Given the description of an element on the screen output the (x, y) to click on. 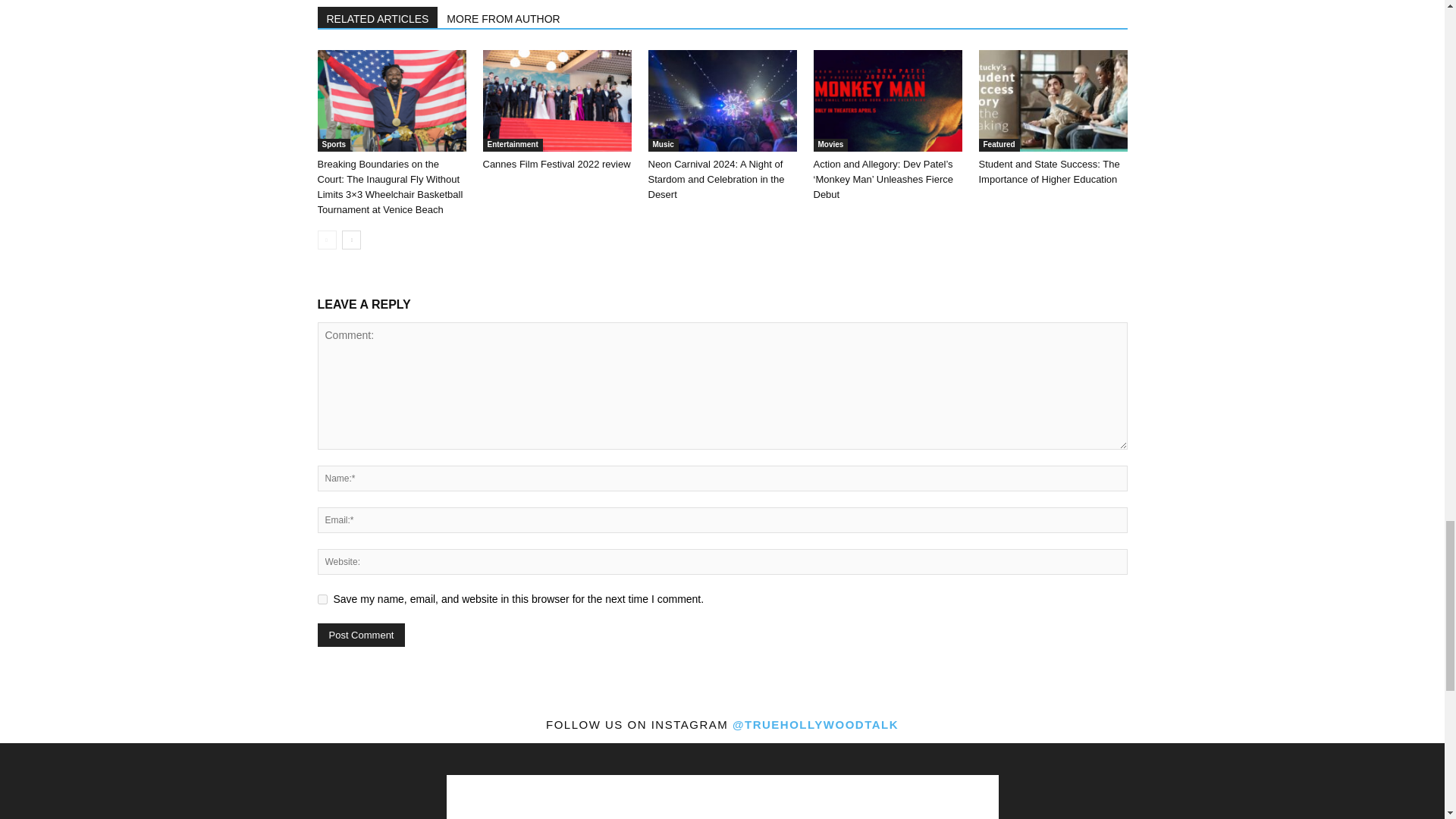
Post Comment (360, 635)
yes (321, 599)
